Given the description of an element on the screen output the (x, y) to click on. 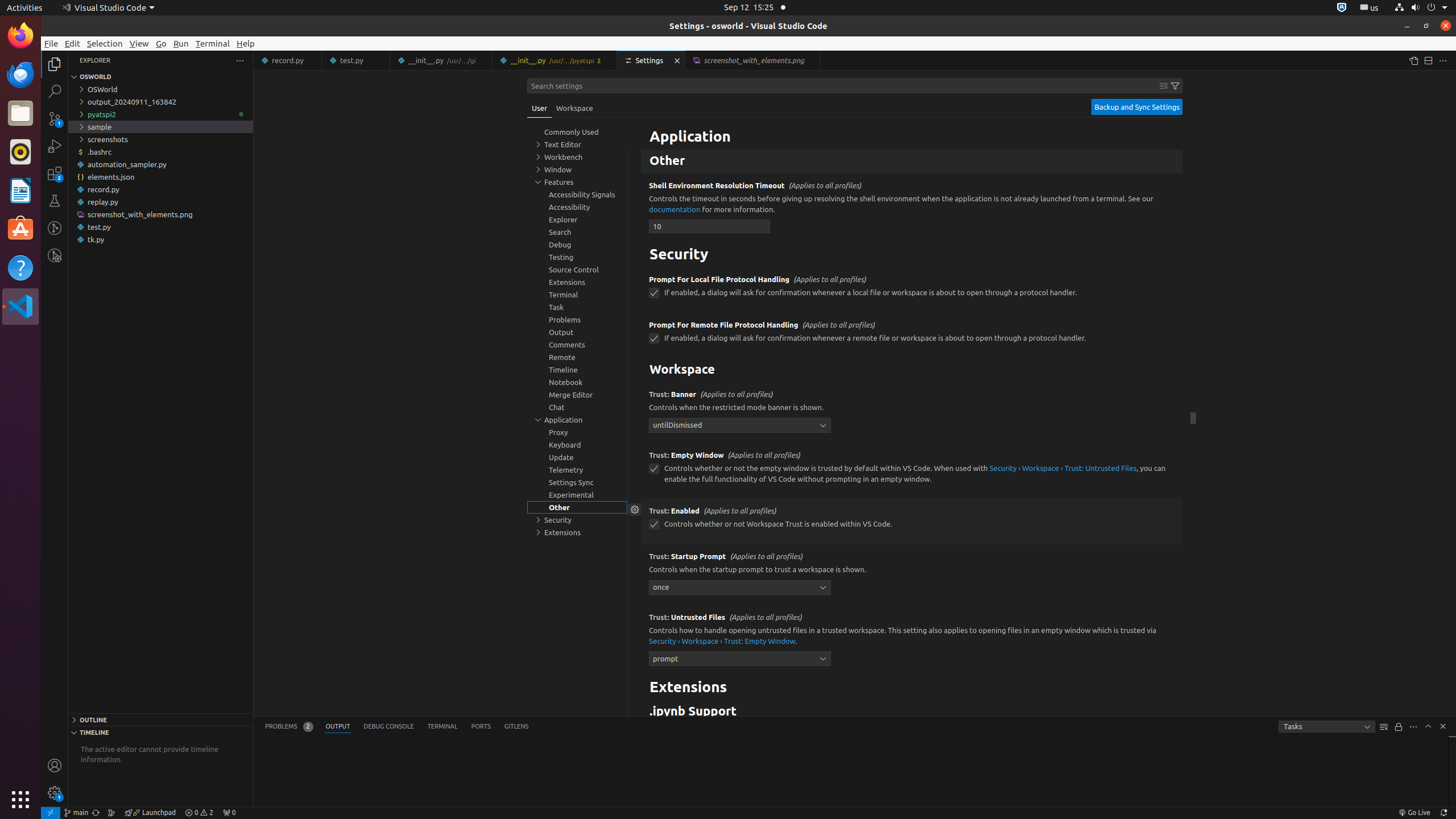
Experimental, group Element type: tree-item (577, 494)
.ipynb Support Element type: tree-item (911, 712)
Problems (Ctrl+Shift+M) - Total 2 Problems Element type: page-tab (288, 726)
Testing, group Element type: tree-item (577, 256)
Security, group Element type: tree-item (577, 519)
